Given the description of an element on the screen output the (x, y) to click on. 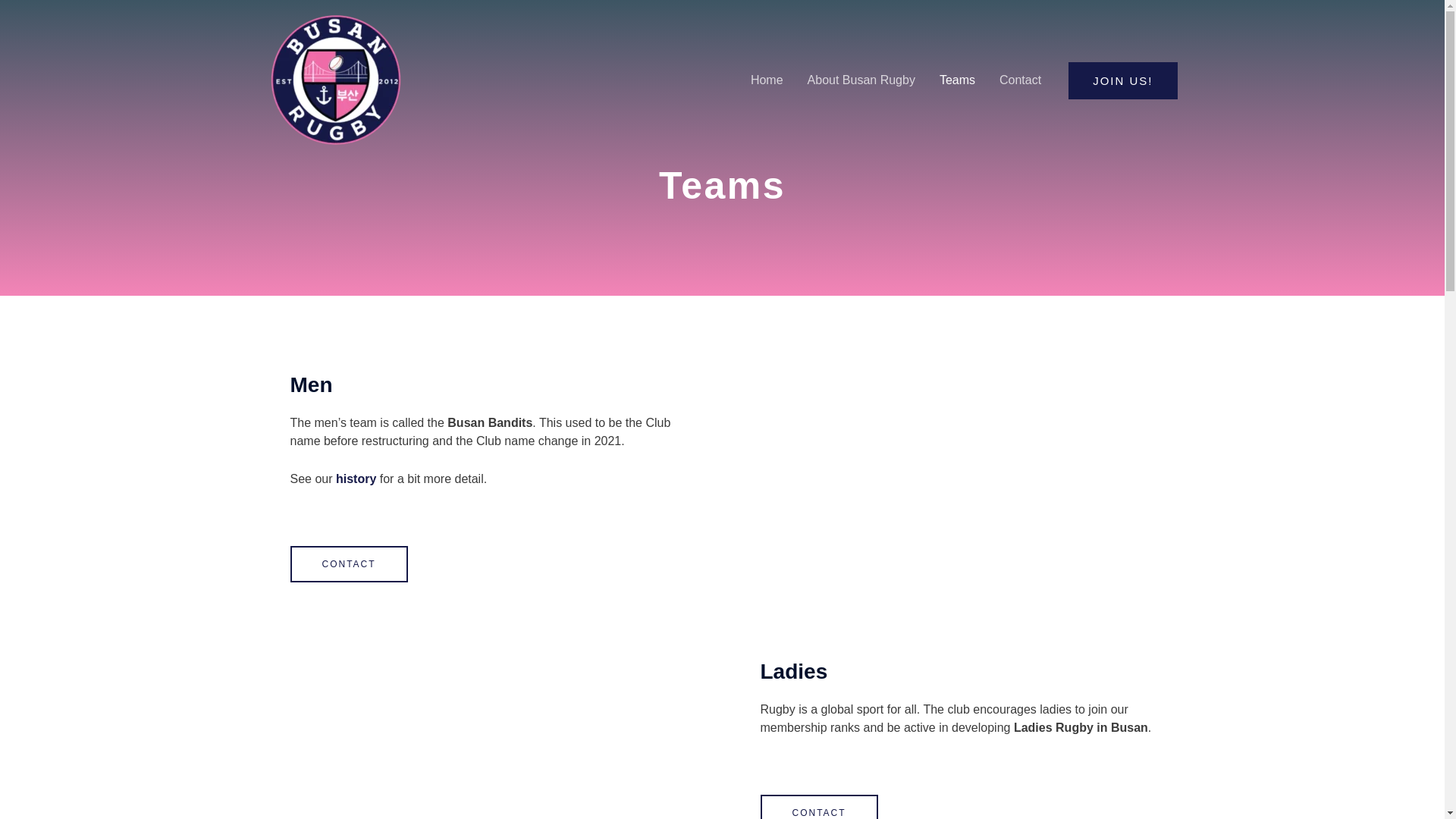
About Busan Rugby (860, 80)
history (355, 478)
Teams (957, 80)
CONTACT (818, 806)
JOIN US! (1122, 80)
CONTACT (348, 564)
Contact (1019, 80)
Home (766, 80)
